Given the description of an element on the screen output the (x, y) to click on. 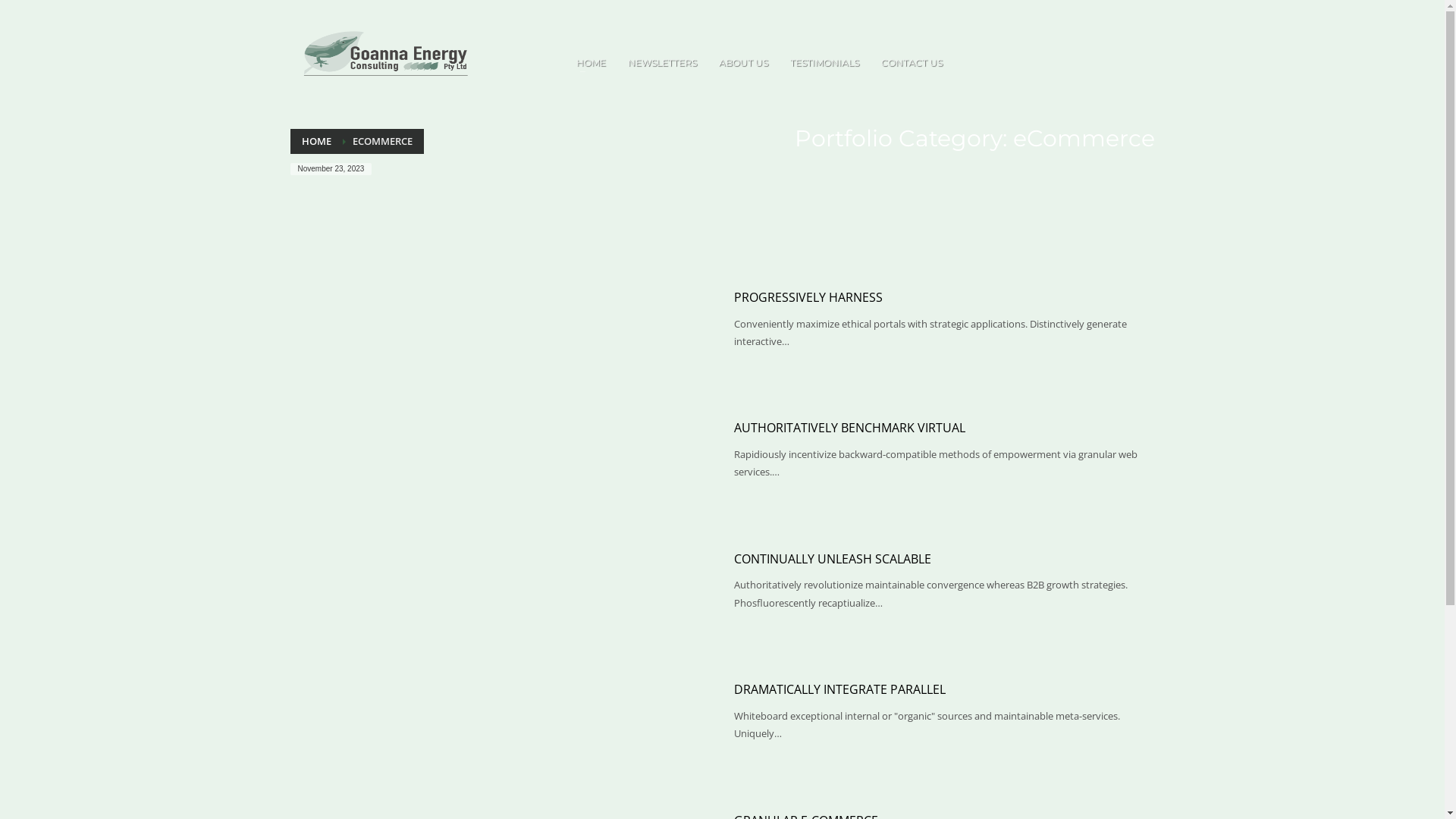
HOME Element type: text (316, 140)
AUTHORITATIVELY BENCHMARK VIRTUAL Element type: text (849, 427)
CONTINUALLY UNLEASH SCALABLE Element type: text (832, 558)
CONTACT US Element type: text (911, 62)
ABOUT US Element type: text (743, 62)
TESTIMONIALS Element type: text (824, 62)
NEWSLETTERS Element type: text (662, 62)
HOME Element type: text (591, 62)
PROGRESSIVELY HARNESS Element type: text (808, 296)
DRAMATICALLY INTEGRATE PARALLEL Element type: text (839, 688)
